Given the description of an element on the screen output the (x, y) to click on. 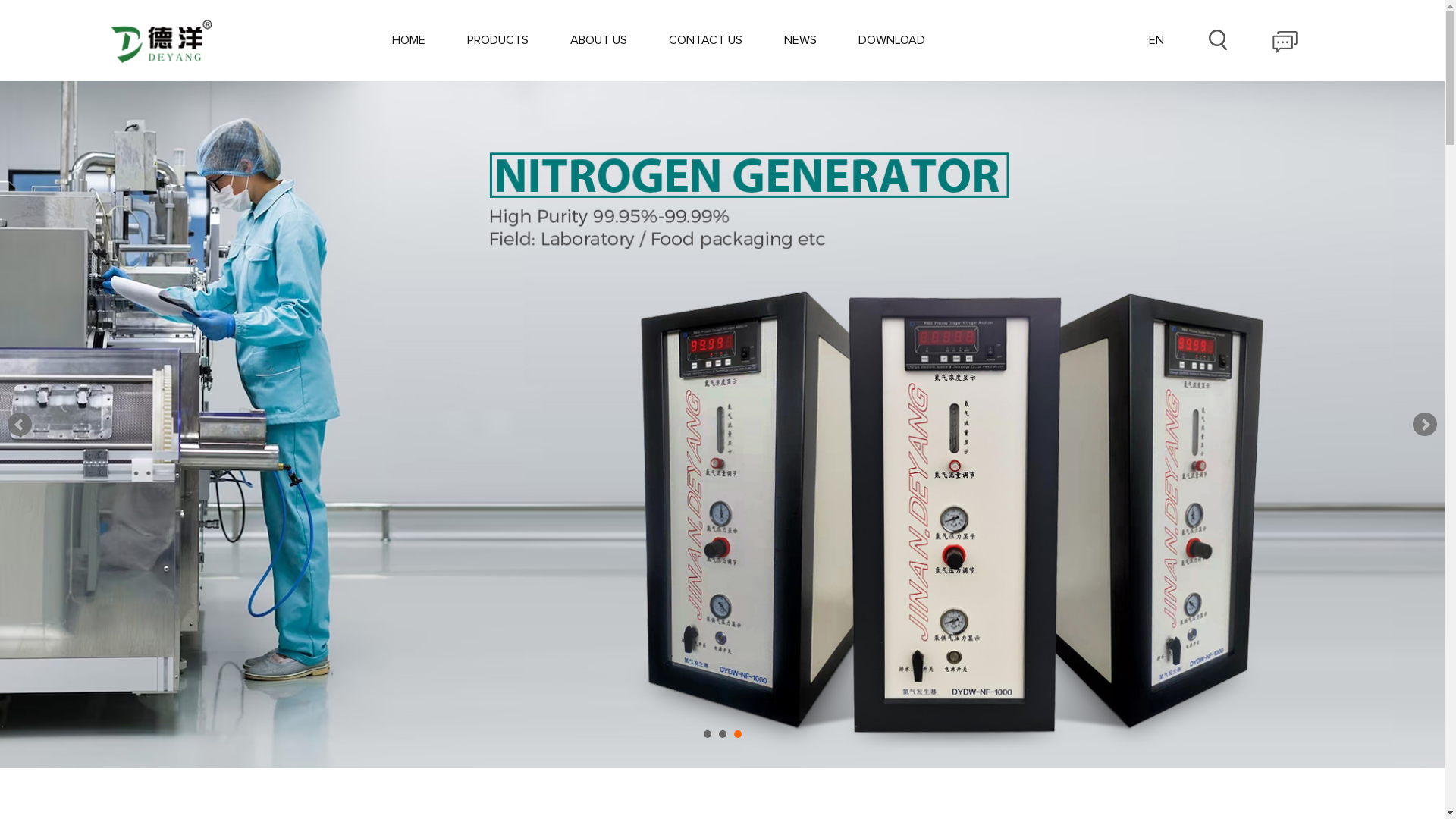
CONTACT US Element type: text (705, 39)
ABOUT US Element type: text (598, 39)
1 Element type: text (707, 733)
2 Element type: text (722, 733)
DOWNLOAD Element type: text (891, 39)
Next Element type: text (1424, 424)
3 Element type: text (737, 733)
PRODUCTS Element type: text (497, 39)
Prev Element type: text (19, 424)
NEWS Element type: text (800, 39)
HOME Element type: text (408, 39)
